Given the description of an element on the screen output the (x, y) to click on. 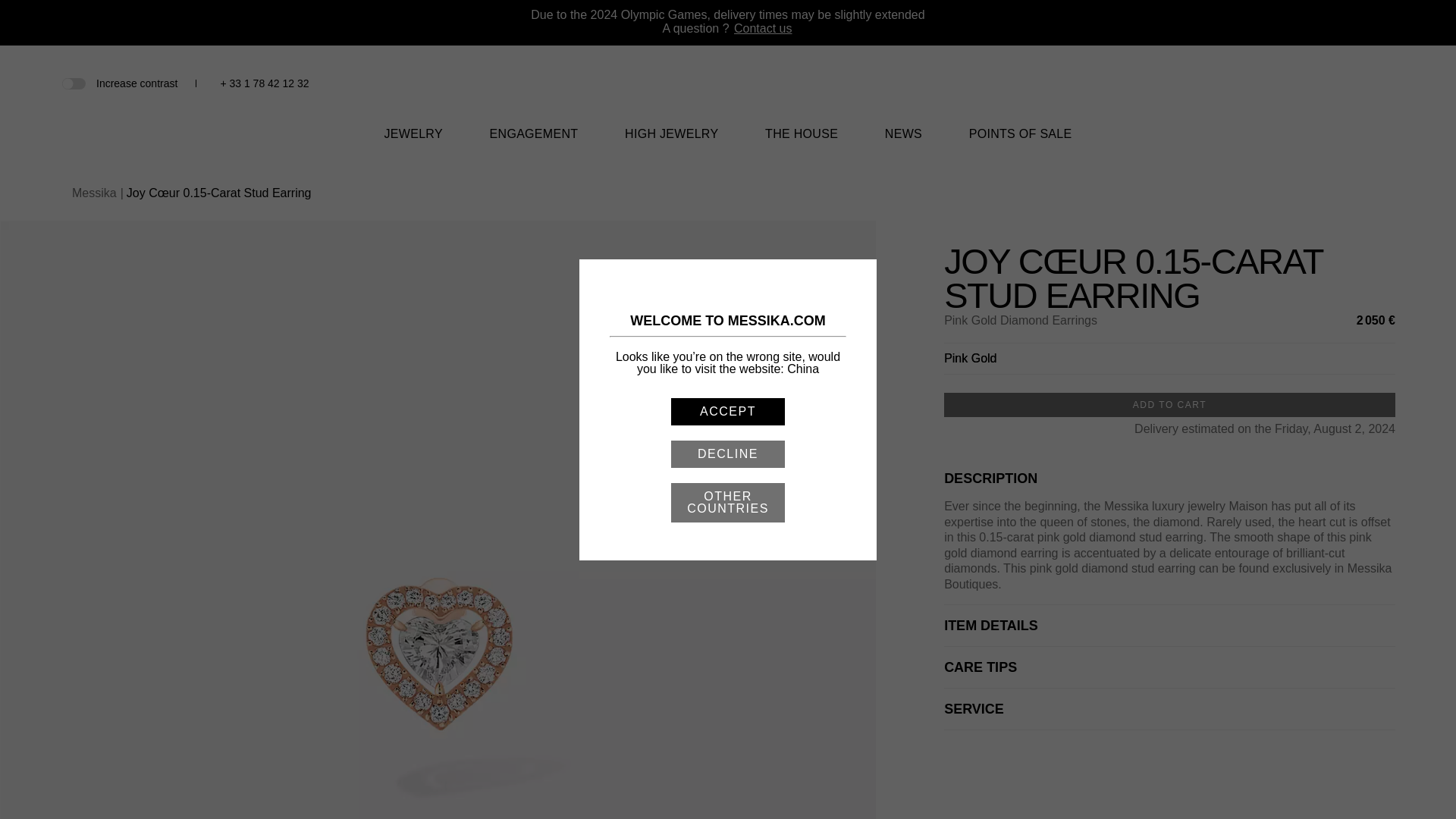
Messika (727, 92)
Search (1310, 84)
JEWELRY (413, 142)
Wishlist (1335, 84)
Messika (727, 103)
Shopping Cart (1360, 84)
Wishlist (1335, 83)
Contact us (762, 28)
Opens a widget where you can find more information (1398, 792)
on (73, 82)
